Given the description of an element on the screen output the (x, y) to click on. 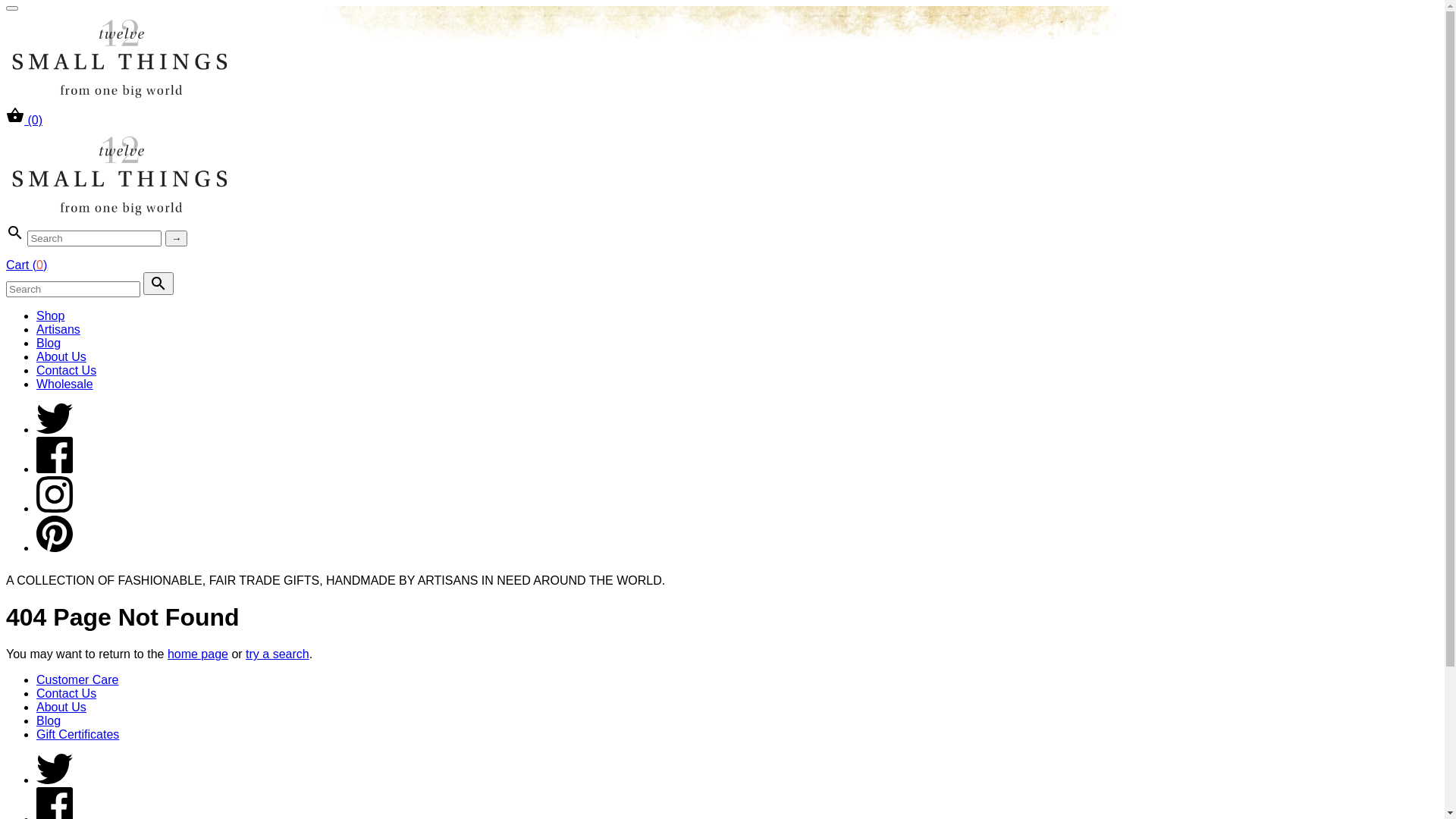
About Us Element type: text (61, 356)
home page Element type: text (197, 653)
Artisans Element type: text (58, 329)
Contact Us Element type: text (66, 370)
Shop Element type: text (50, 315)
About Us Element type: text (61, 706)
Search Element type: text (158, 283)
Contact Us Element type: text (66, 693)
Cart (0) Element type: text (26, 264)
Wholesale Element type: text (64, 383)
Gift Certificates Element type: text (77, 734)
Blog Element type: text (48, 720)
Twitter Element type: text (54, 429)
12 Small Things Element type: hover (119, 219)
Twitter Element type: text (54, 779)
try a search Element type: text (277, 653)
Pinterest Element type: text (54, 547)
Blog Element type: text (48, 342)
Instagram Element type: text (54, 508)
Facebook Element type: text (54, 468)
Customer Care Element type: text (77, 679)
Cart (0) Element type: text (24, 119)
12 Small Things Element type: hover (119, 101)
